Given the description of an element on the screen output the (x, y) to click on. 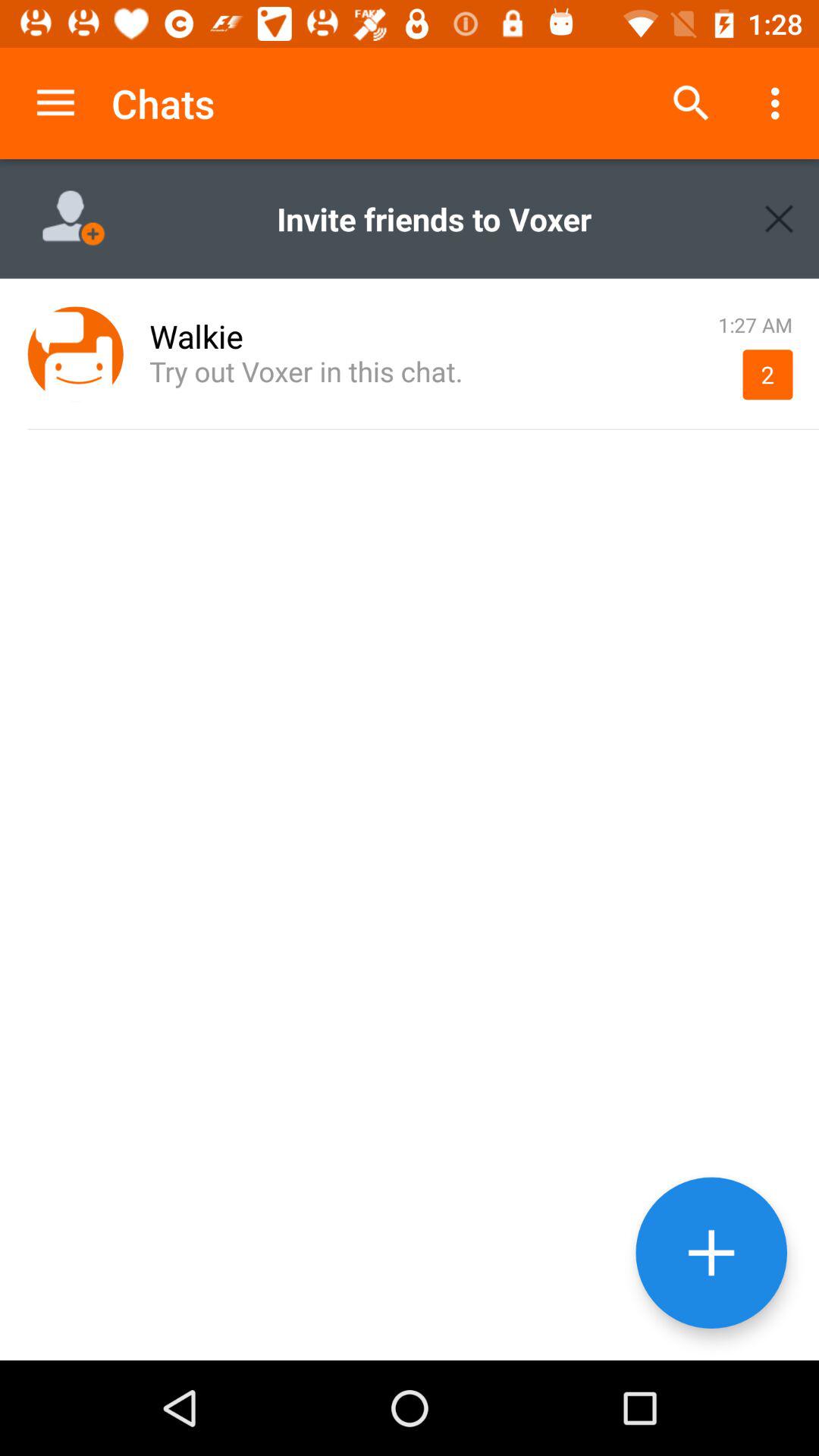
add chat (711, 1252)
